Given the description of an element on the screen output the (x, y) to click on. 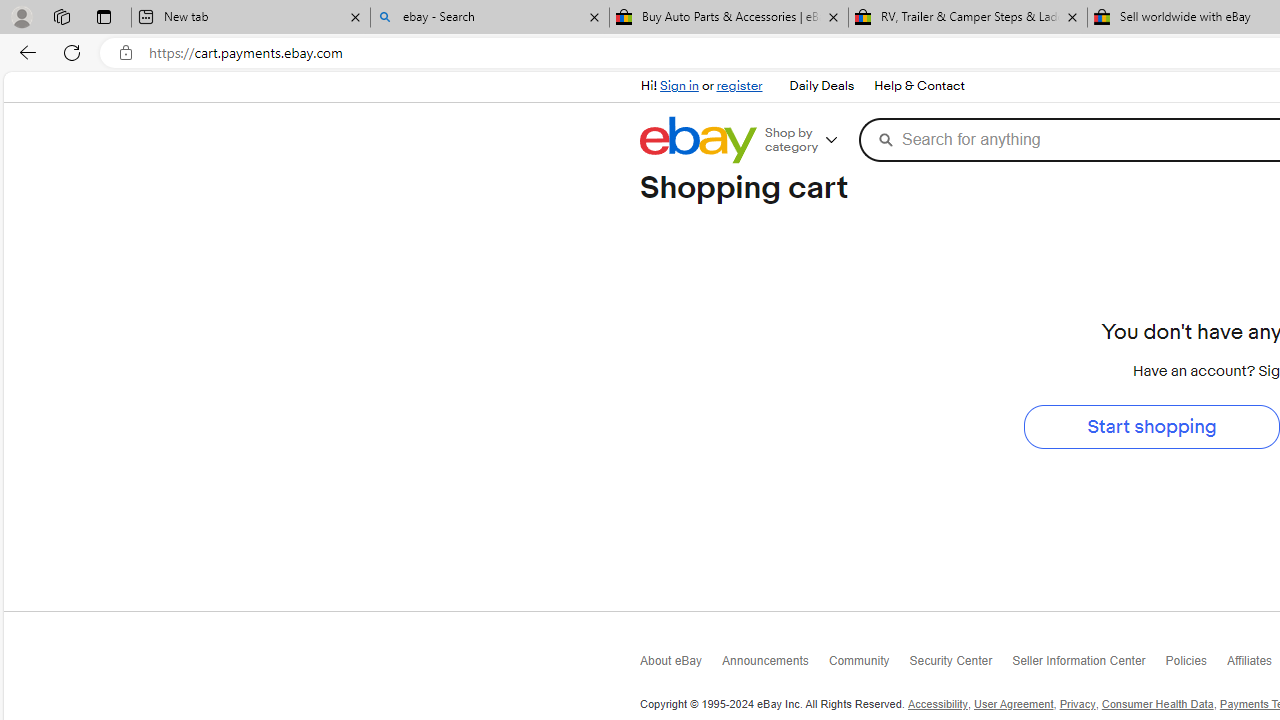
Seller Information Center (1089, 664)
Security Center (960, 664)
Security Center (960, 665)
Start shopping (1152, 426)
ebay - Search (490, 17)
register (738, 85)
Sign in (679, 85)
eBay Home (698, 139)
Daily Deals (821, 86)
Help & Contact (918, 85)
Seller Information Center (1089, 665)
Community (869, 664)
Buy Auto Parts & Accessories | eBay (729, 17)
Community (869, 665)
